Given the description of an element on the screen output the (x, y) to click on. 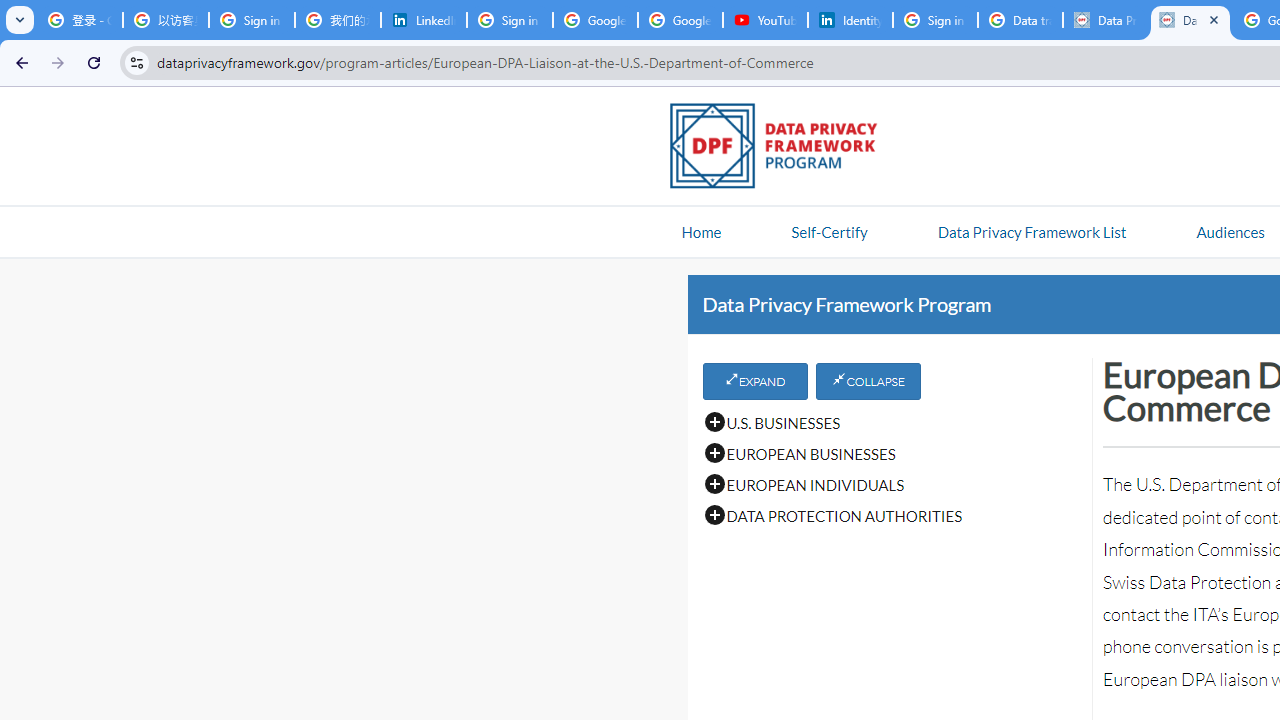
EXPAND (754, 381)
